Given the description of an element on the screen output the (x, y) to click on. 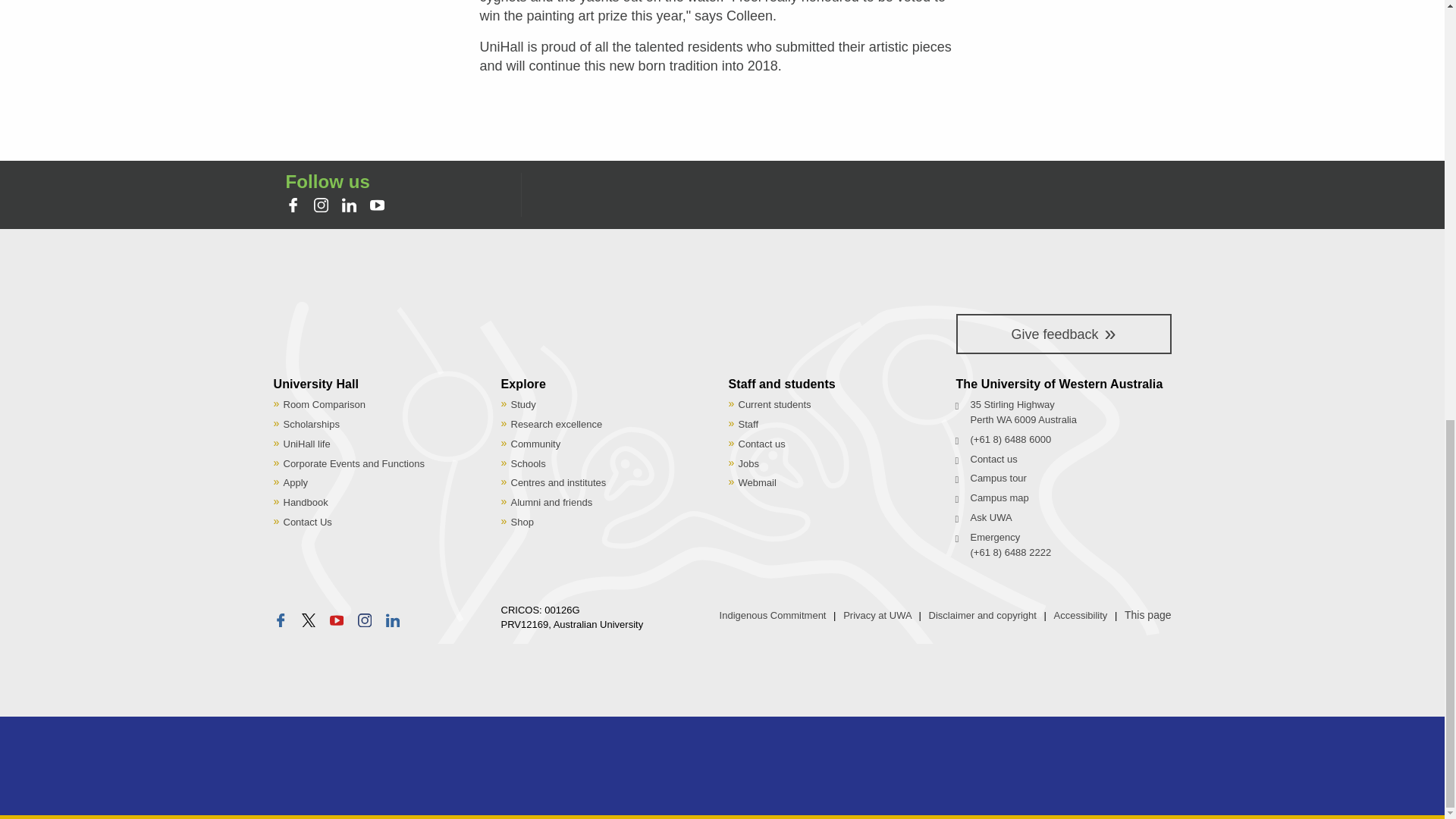
Give feedback (1062, 333)
Room Comparison (324, 404)
linkedin (392, 620)
instagram (321, 205)
linkedin (351, 207)
youtube (379, 207)
facebook (294, 207)
facebook (279, 620)
Group of Eight Australia Member (340, 772)
linkedin (349, 205)
instagram (323, 207)
facebook (292, 205)
X (311, 621)
youtube (376, 205)
instagram (364, 620)
